Given the description of an element on the screen output the (x, y) to click on. 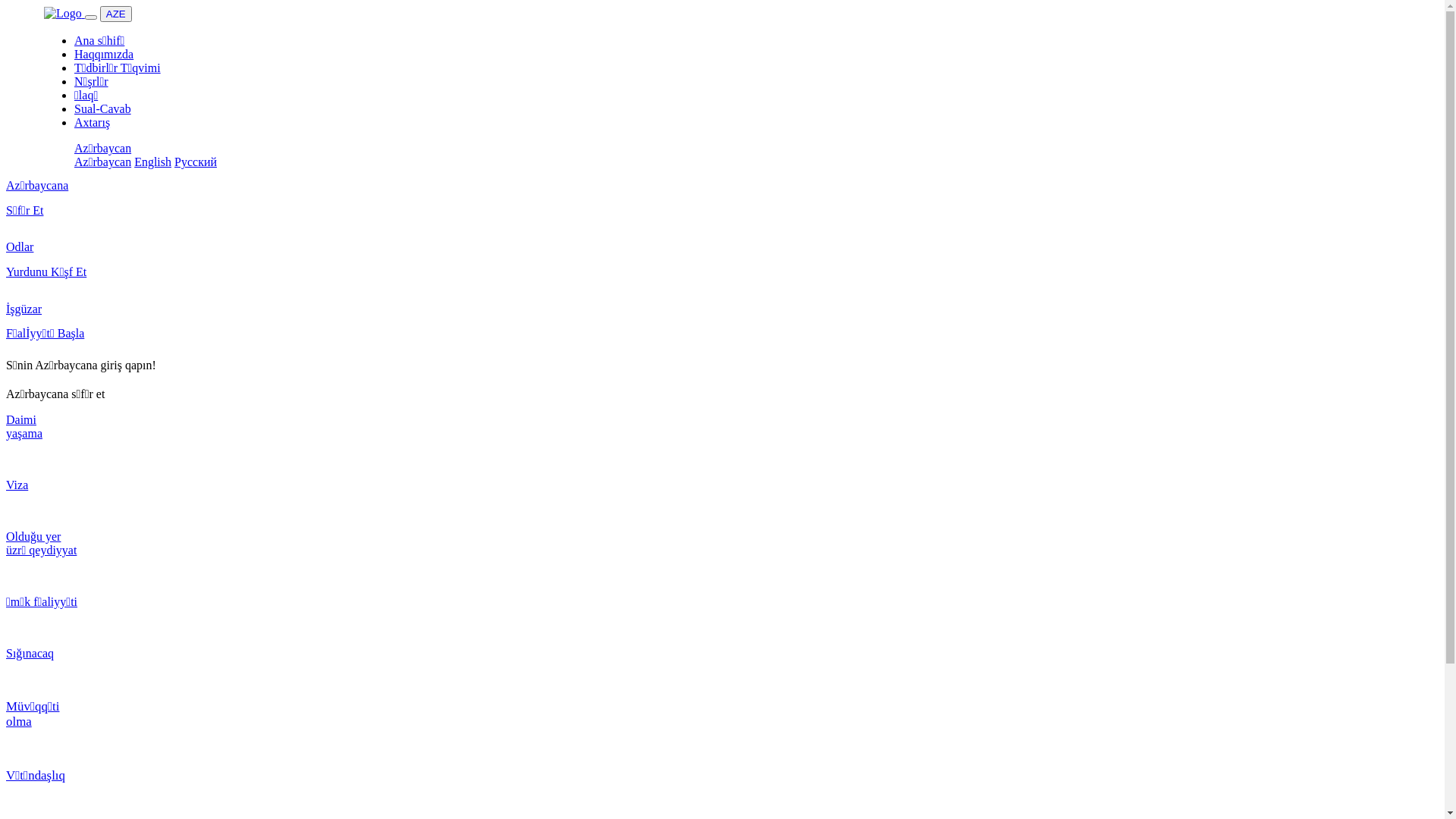
Sual-Cavab Element type: text (102, 108)
Viza Element type: text (722, 497)
English Element type: text (152, 161)
AZE Element type: text (115, 13)
AZE Element type: text (115, 13)
